Given the description of an element on the screen output the (x, y) to click on. 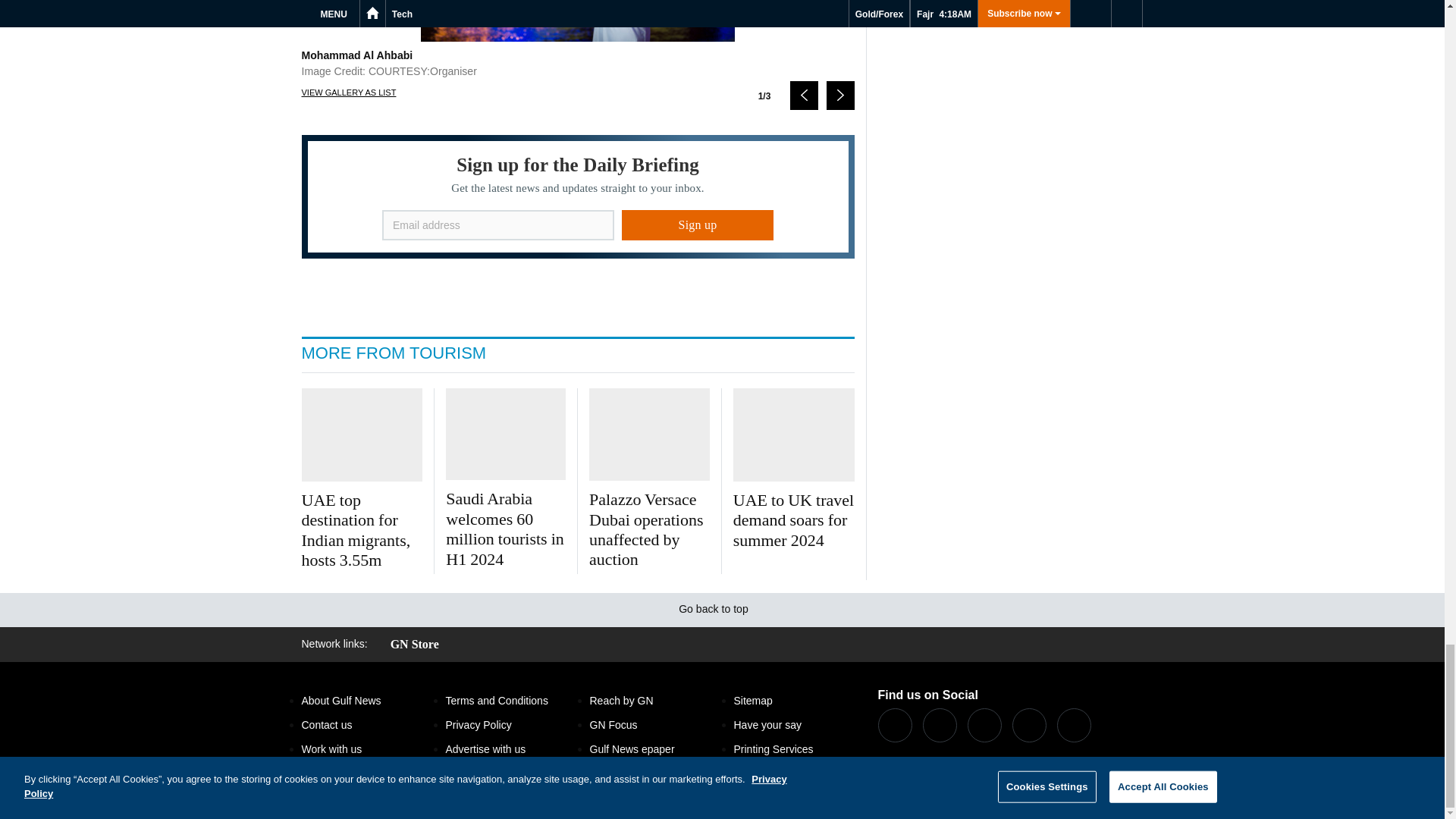
Sign up for the Daily Briefing (577, 196)
